Given the description of an element on the screen output the (x, y) to click on. 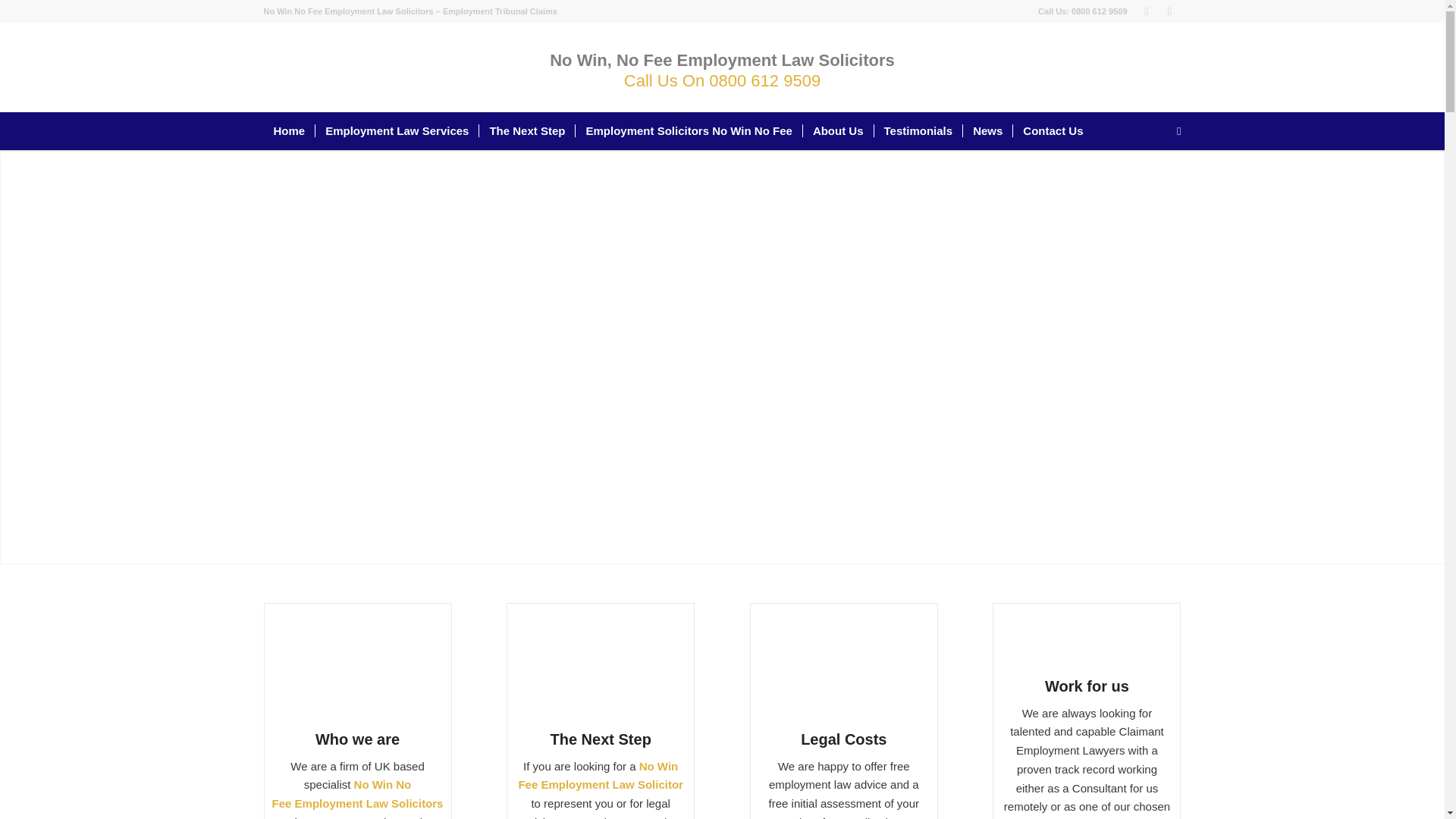
No Win No Fee Employment Law Solicitor (356, 667)
Twitter (1146, 11)
Call Us On 0800 612 9509 (722, 80)
No Win No Fee Employment Law Solicitor - Work for us (1031, 640)
No Win No Fee Employment Law Solicitor - the next step (600, 667)
Employment Solicitors No Win No Fee (688, 130)
Home (289, 130)
No Win No Fee Employment Law Solicitor - Legal Costs (844, 667)
The Next Step (527, 130)
Testimonials (917, 130)
Contact Us (1052, 130)
News (986, 130)
About Us (837, 130)
Facebook (1169, 11)
Employment Law Services (396, 130)
